Given the description of an element on the screen output the (x, y) to click on. 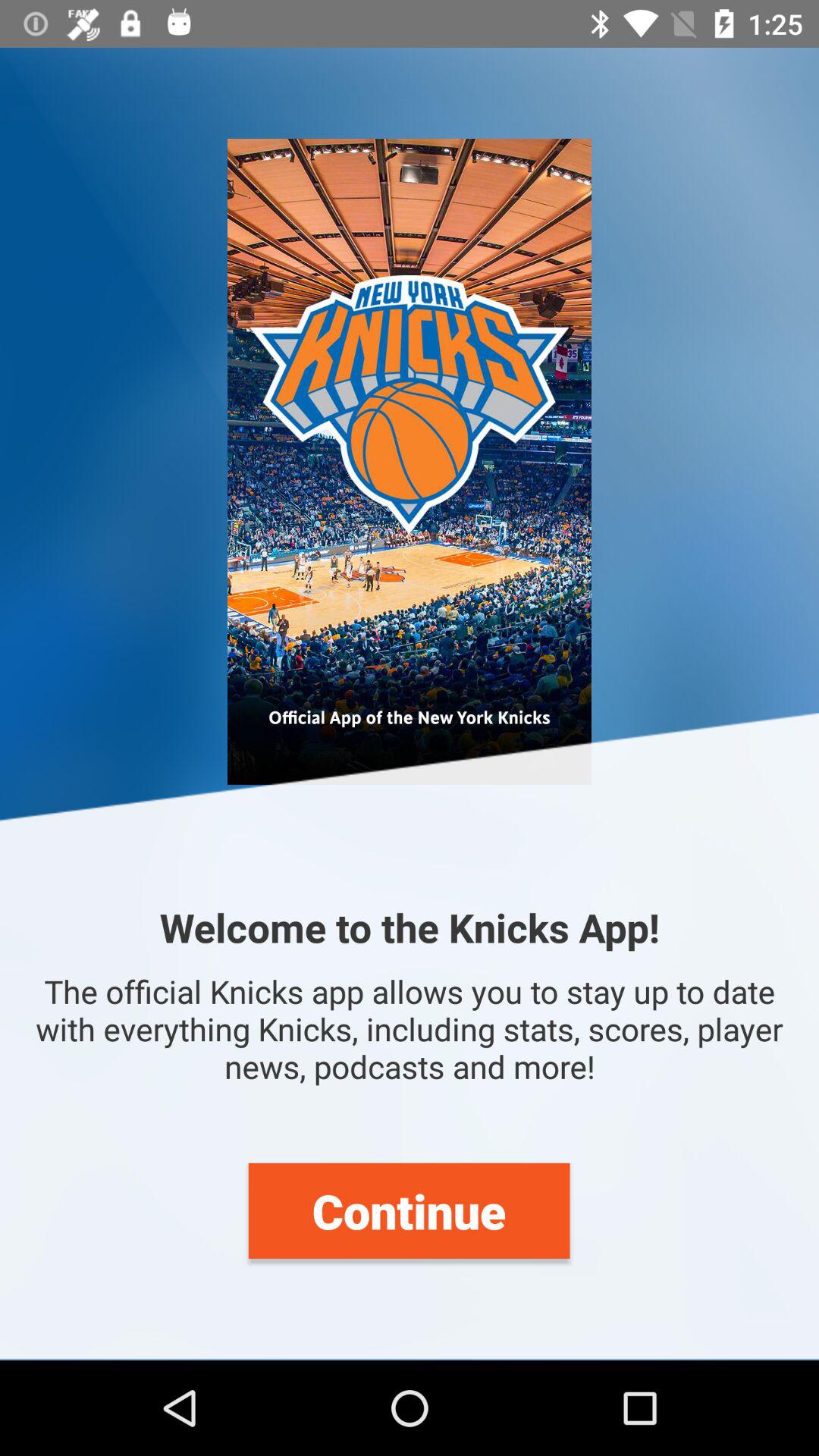
click the icon below the official knicks (408, 1210)
